Given the description of an element on the screen output the (x, y) to click on. 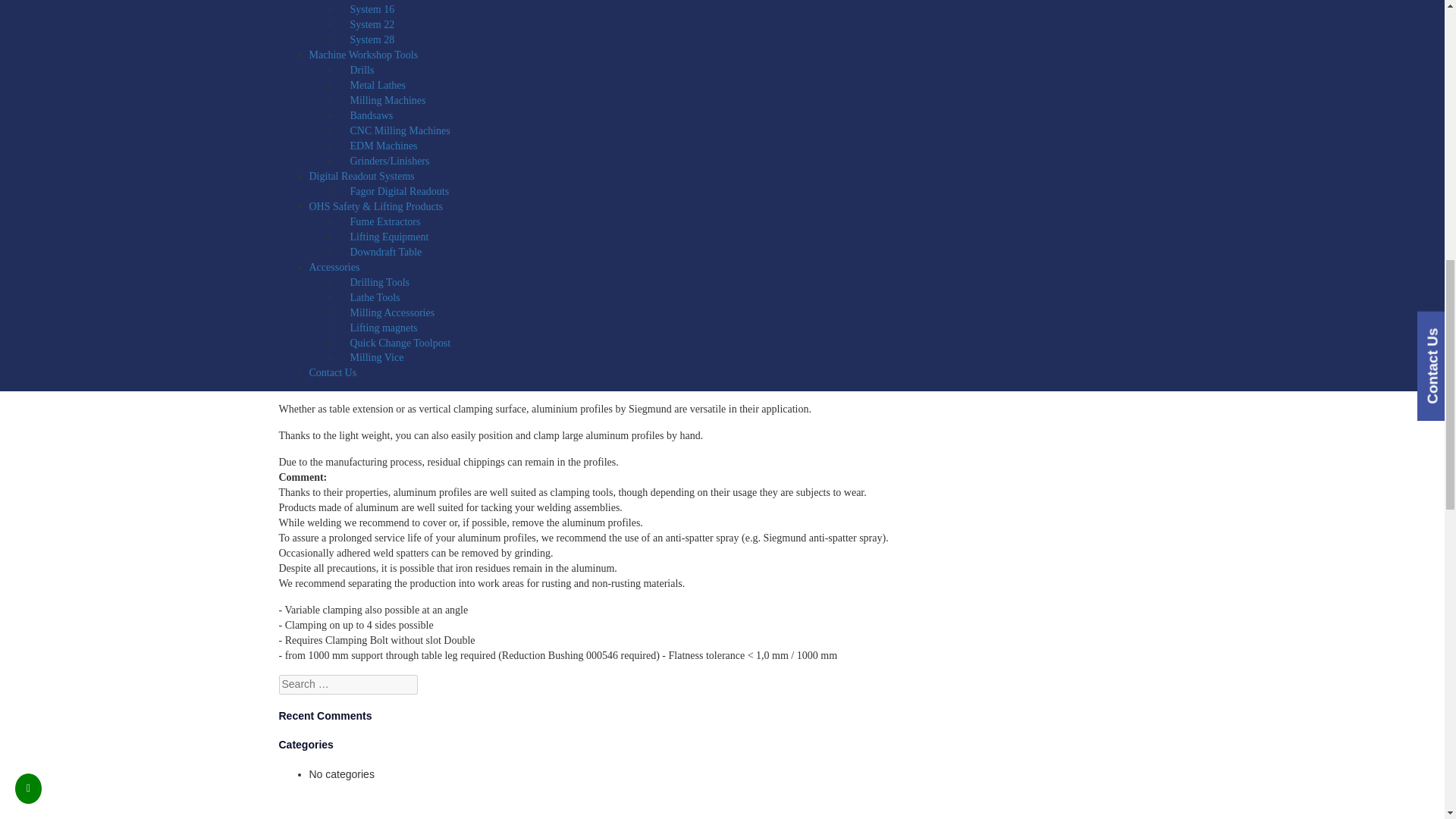
Fume Extractors (384, 221)
Lifting magnets (383, 327)
Milling Accessories (392, 312)
System 22 (372, 24)
System 16 (372, 10)
Digital Readout Systems (361, 175)
Quick Change Toolpost (400, 341)
Lathe Tools (374, 297)
EDM Machines (383, 146)
System 28 (372, 39)
